Given the description of an element on the screen output the (x, y) to click on. 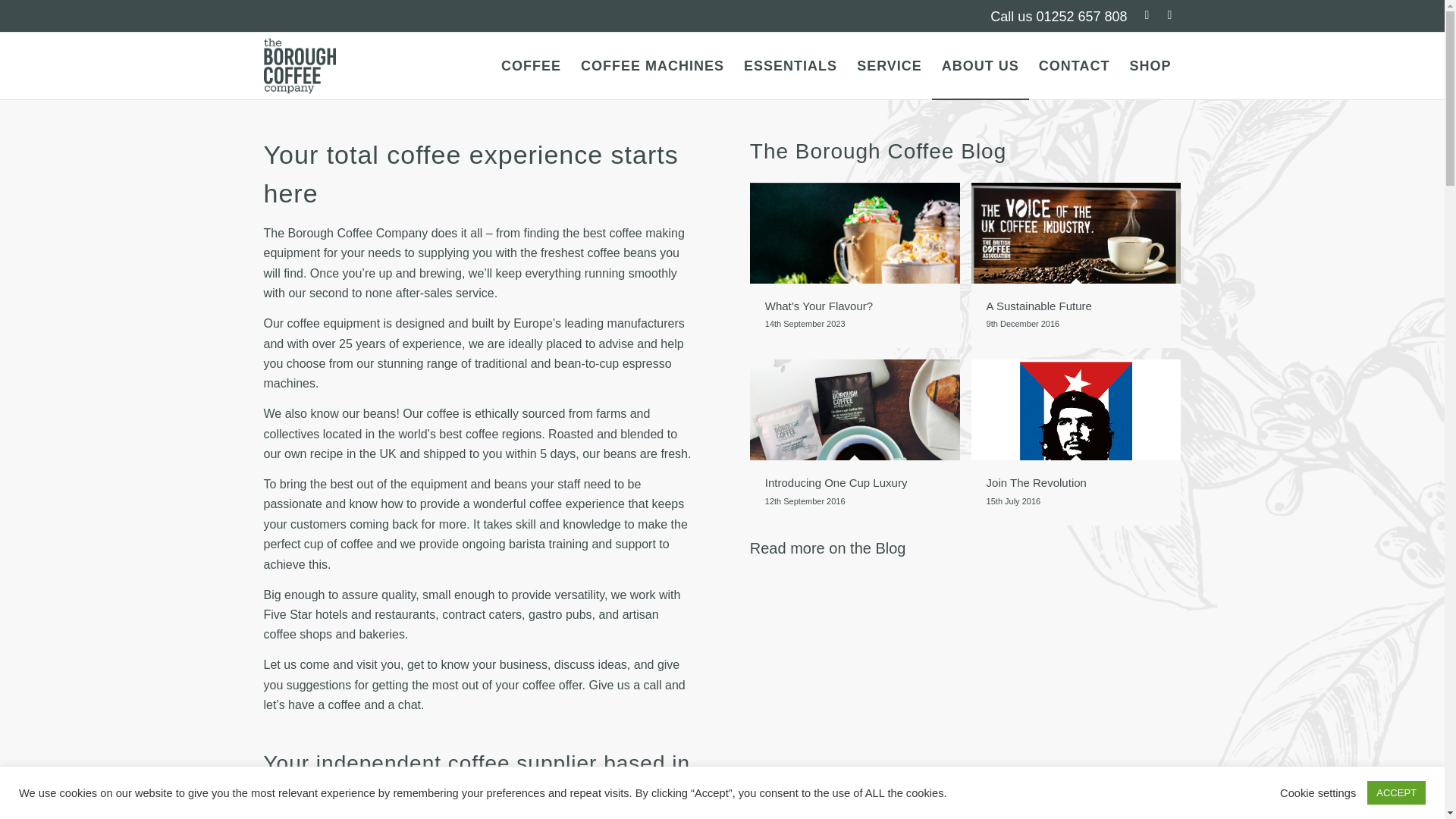
ACCEPT (1396, 792)
ESSENTIALS (790, 65)
TP3-Che-Guevara-textile-poster (1075, 441)
the-borough-coffee-company (1081, 270)
COFFEE (299, 65)
coffee-bg (531, 65)
PastedGraphic-1 (854, 441)
TP3-Che-Guevara-textile-poster (860, 270)
coffee-bg (1081, 447)
